Given the description of an element on the screen output the (x, y) to click on. 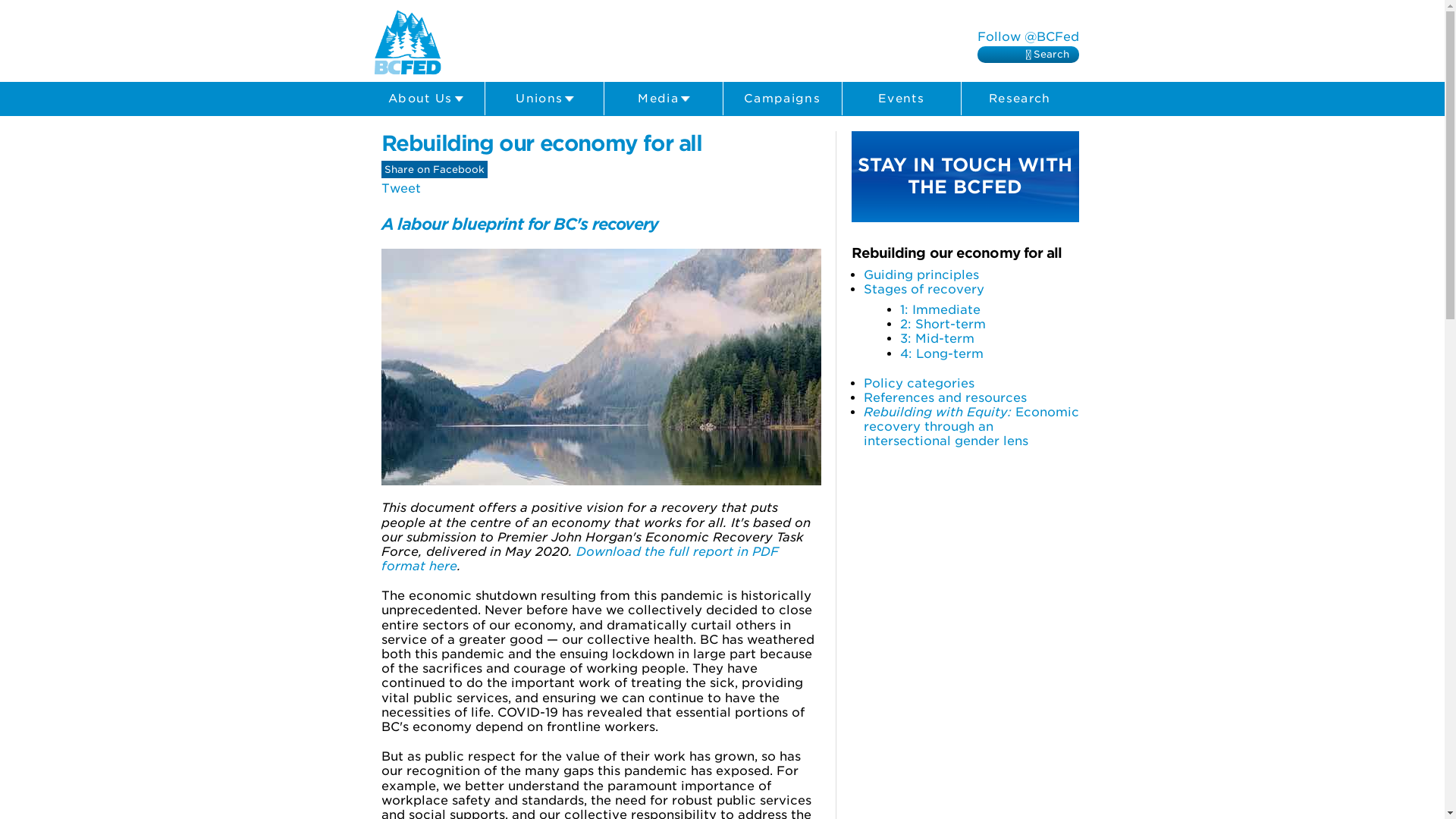
Download the full report in PDF format here Element type: text (579, 558)
3: Mid-term Element type: text (936, 338)
Policy categories Element type: text (917, 383)
Follow @BCFed Element type: text (1027, 36)
Stages of recovery Element type: text (922, 289)
Research Element type: text (1020, 98)
4: Long-term Element type: text (940, 353)
References and resources Element type: text (944, 397)
Unions  Element type: text (544, 98)
Share Element type: text (433, 169)
Media  Element type: text (662, 98)
About Us  Element type: text (424, 98)
1: Immediate Element type: text (939, 309)
Guiding principles Element type: text (920, 274)
Campaigns Element type: text (782, 98)
STAY IN TOUCH WITH THE BCFED Element type: text (964, 176)
Skip to main content Element type: text (690, 1)
Tweet Element type: text (400, 188)
2: Short-term Element type: text (942, 323)
Events Element type: text (900, 98)
